Given the description of an element on the screen output the (x, y) to click on. 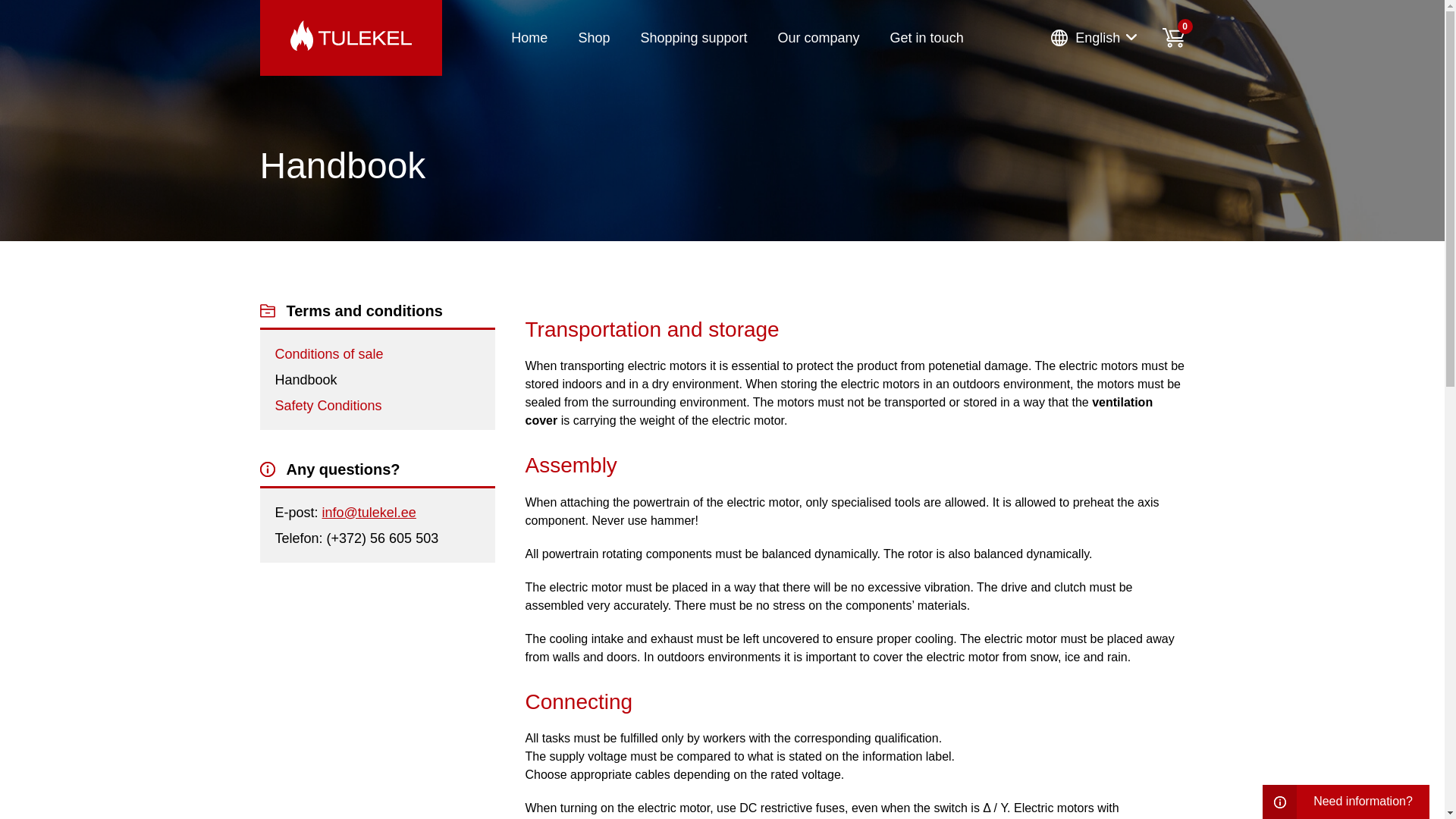
View shopping cart (1173, 37)
0 (1173, 37)
Our company (818, 37)
Safety Conditions (328, 405)
Need information? (1345, 801)
Shopping support (693, 37)
Home (529, 37)
Get in touch (926, 37)
Conditions of sale (328, 353)
arrowsArtboard 79 (1131, 36)
